Given the description of an element on the screen output the (x, y) to click on. 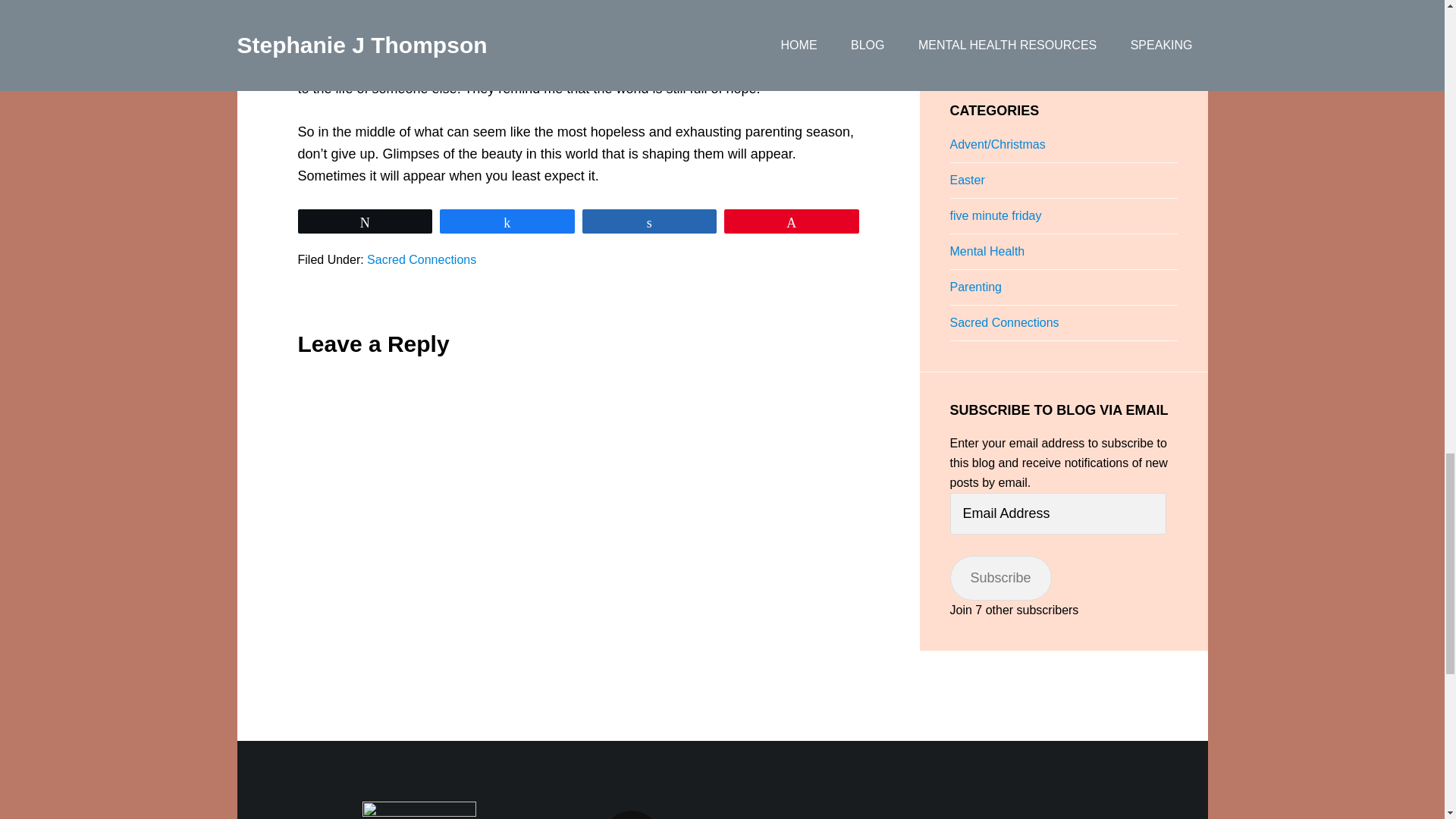
Easter (966, 179)
Sacred Connections (421, 259)
five minute friday (995, 215)
Mental Health (987, 250)
